Given the description of an element on the screen output the (x, y) to click on. 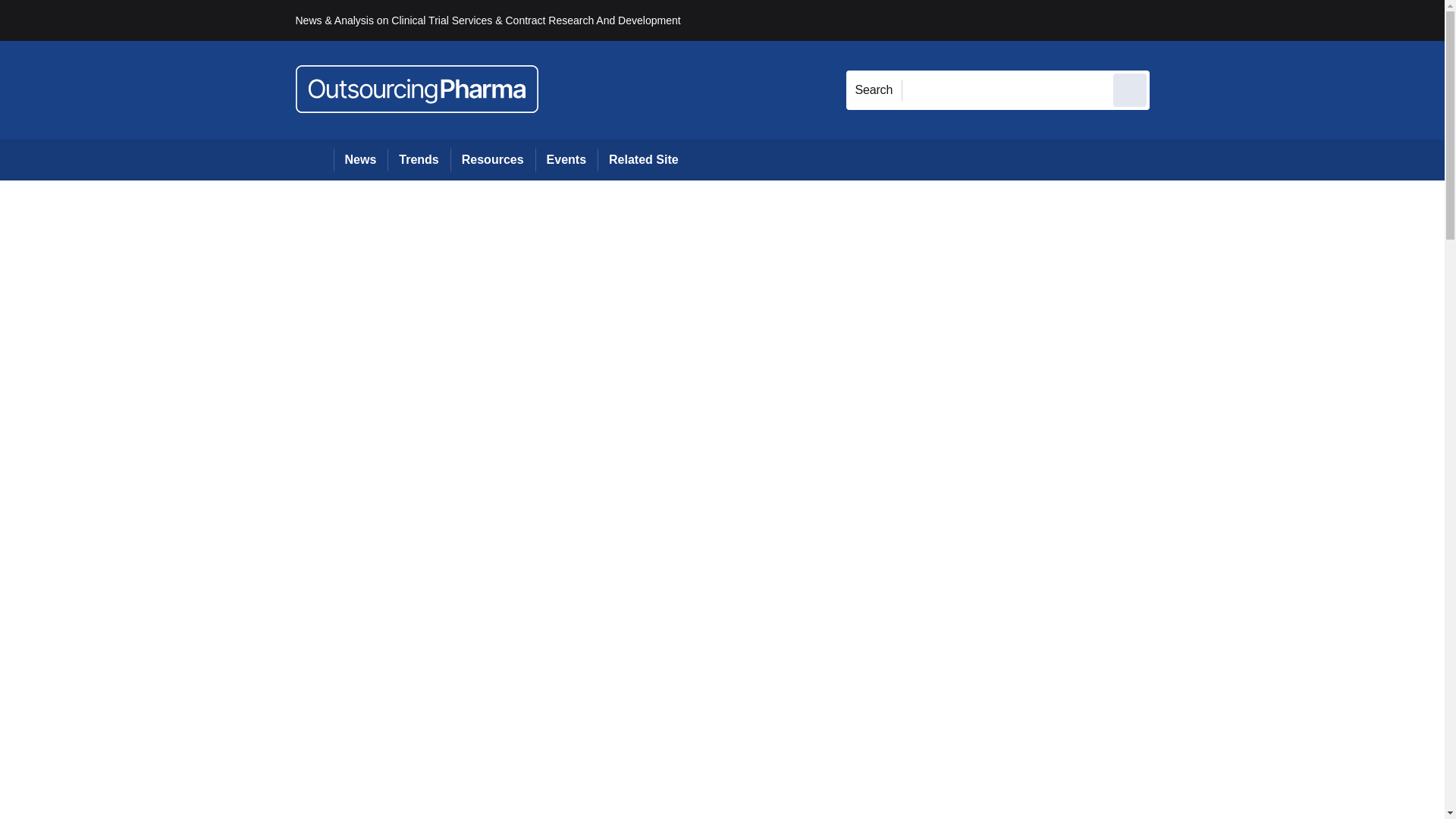
Trends (418, 159)
OutsourcingPharma (416, 89)
Sign in (1171, 20)
My account (1256, 20)
Send (1129, 89)
News (360, 159)
Send (1129, 90)
REGISTER (1250, 20)
Home (313, 159)
Home (314, 159)
